Given the description of an element on the screen output the (x, y) to click on. 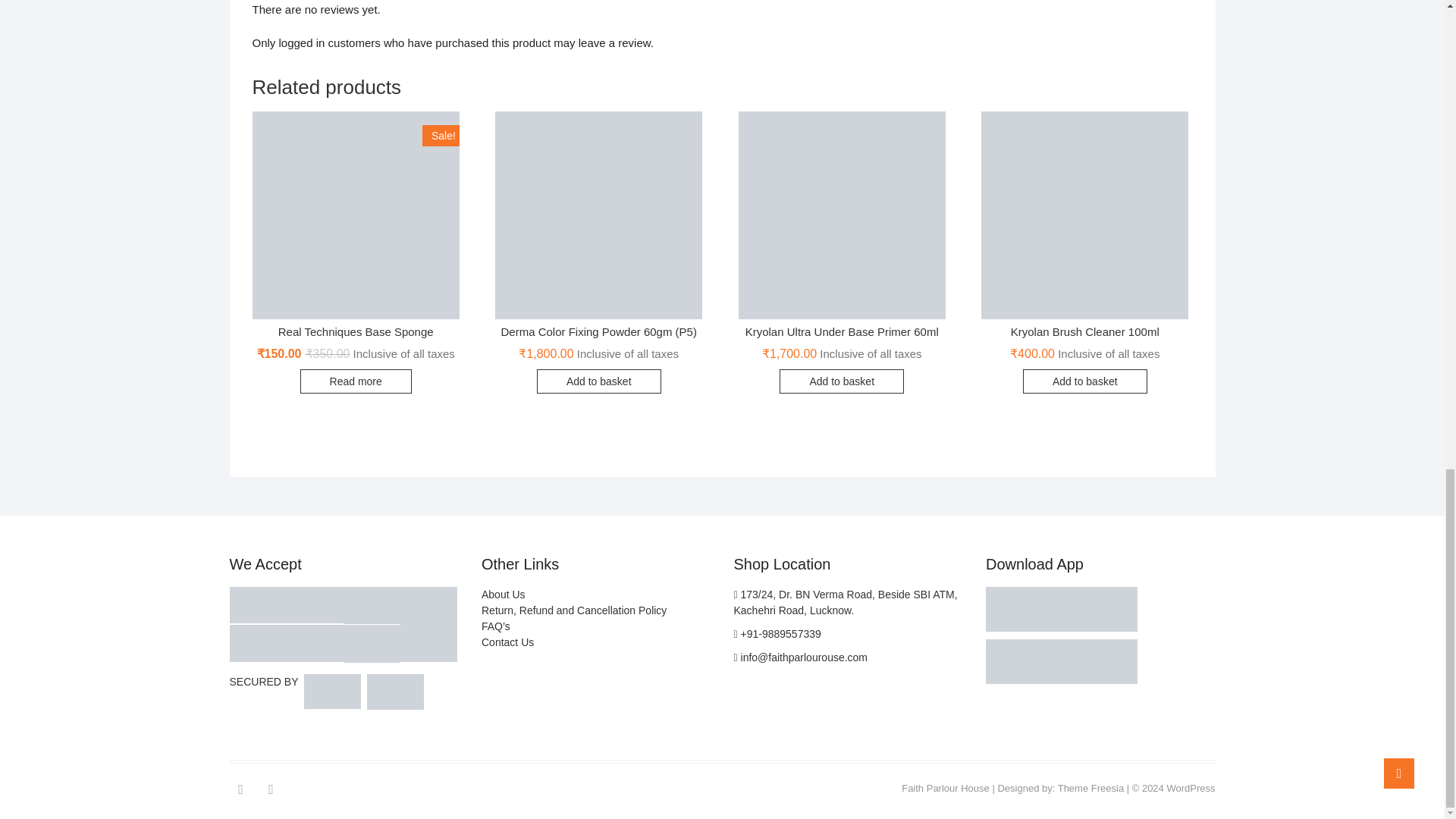
Call Us (777, 633)
Our Address (845, 602)
Mail Us (800, 657)
Faith Parlour House (945, 787)
